Given the description of an element on the screen output the (x, y) to click on. 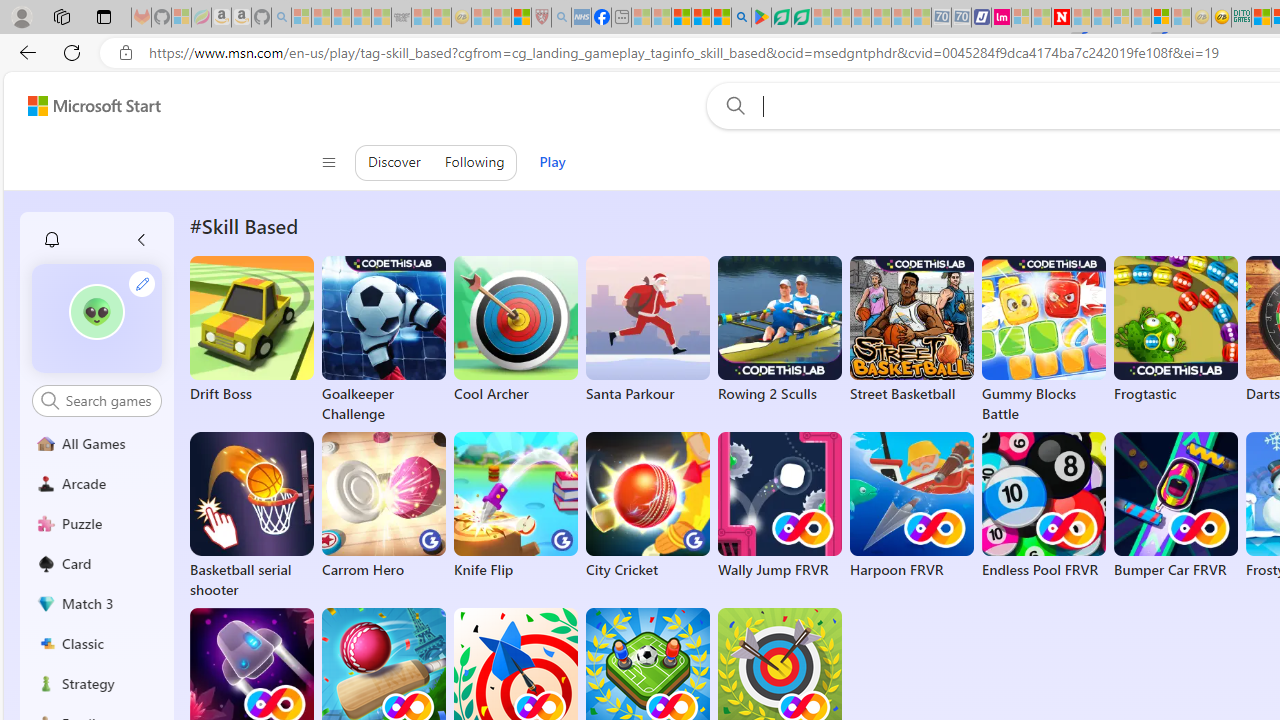
Class: search-icon (50, 400)
Goalkeeper Challenge (383, 340)
Gummy Blocks Battle (1043, 340)
Knife Flip (516, 506)
Pets - MSN (701, 17)
Drift Boss (251, 329)
